Given the description of an element on the screen output the (x, y) to click on. 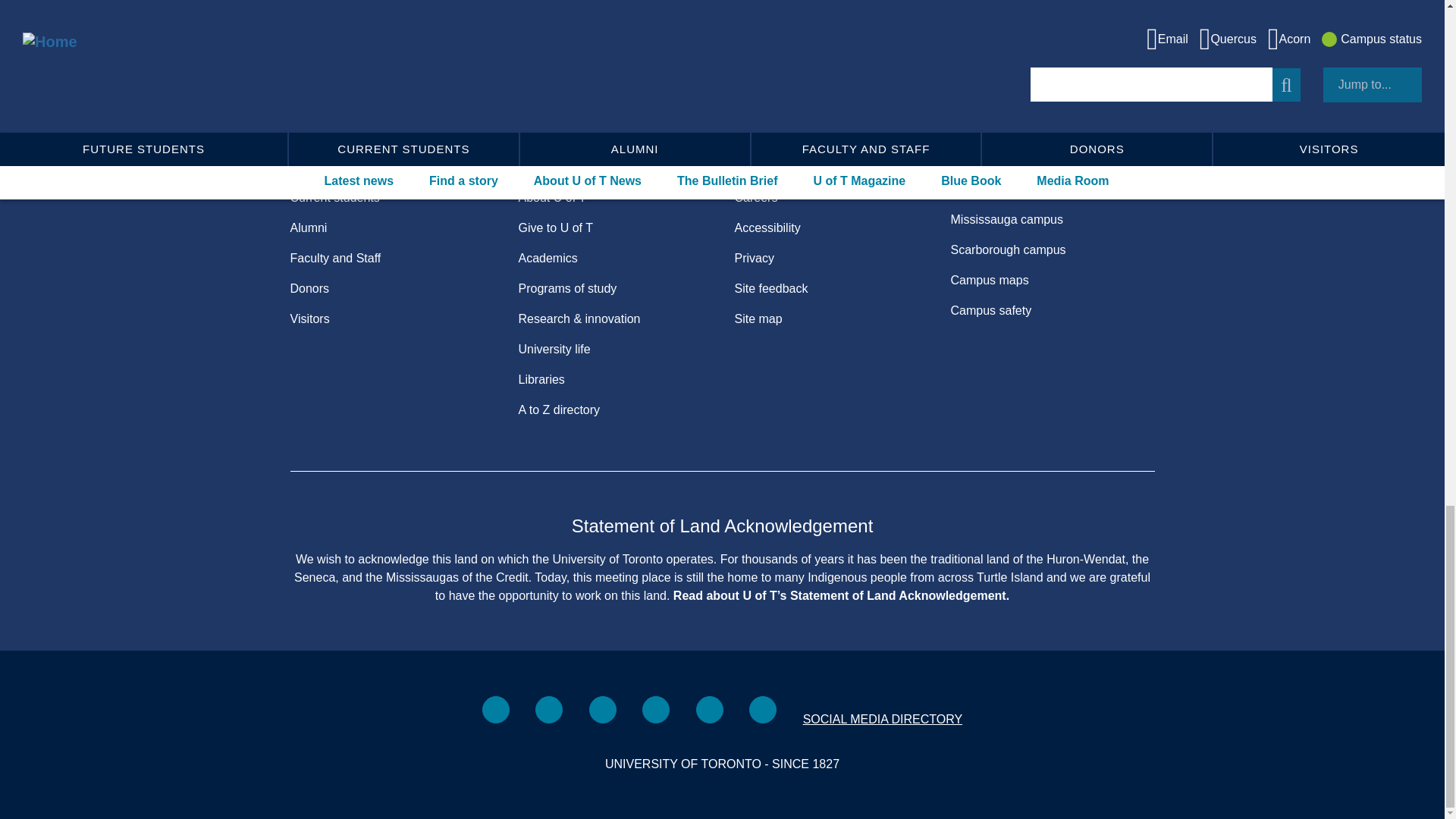
Defy gravity (733, 97)
